Given the description of an element on the screen output the (x, y) to click on. 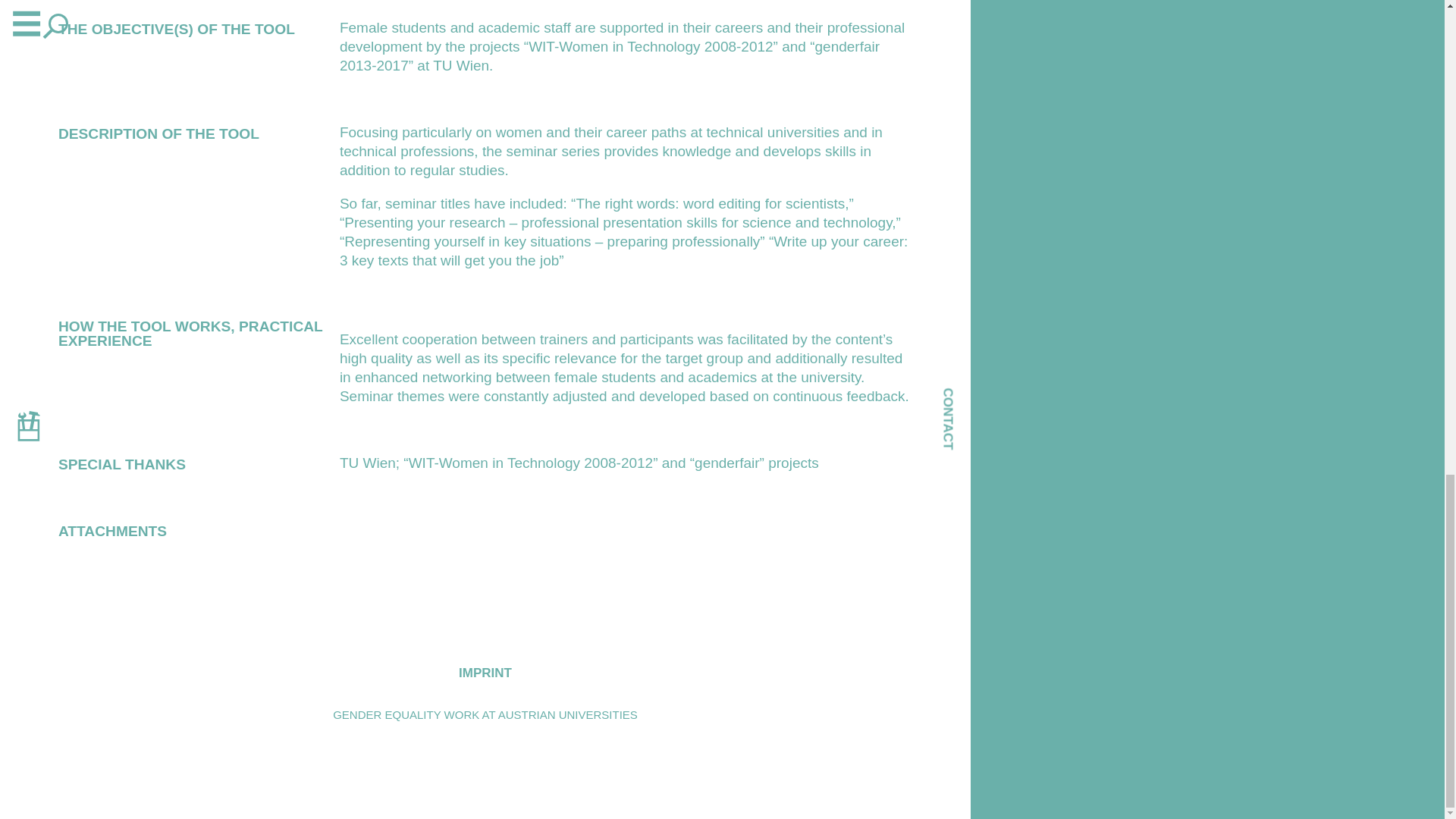
Impressum (485, 684)
